Given the description of an element on the screen output the (x, y) to click on. 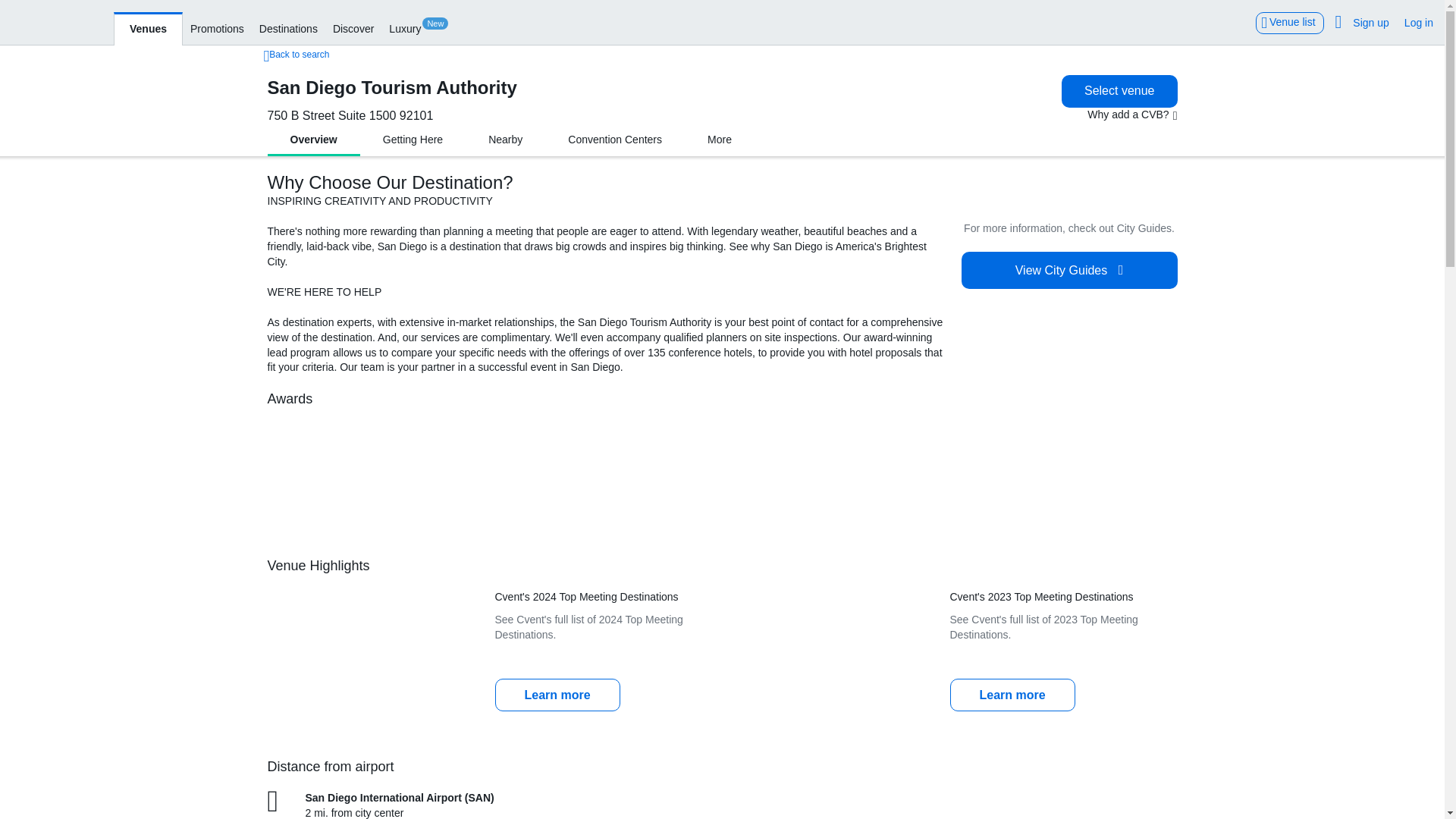
Sign up (1370, 20)
Log in (1418, 20)
Log in (1418, 20)
Destinations (287, 27)
Sign up (1370, 20)
Cvent Supplier Network (57, 21)
Discover (352, 27)
Promotions (217, 27)
LuxuryNew (417, 27)
